Given the description of an element on the screen output the (x, y) to click on. 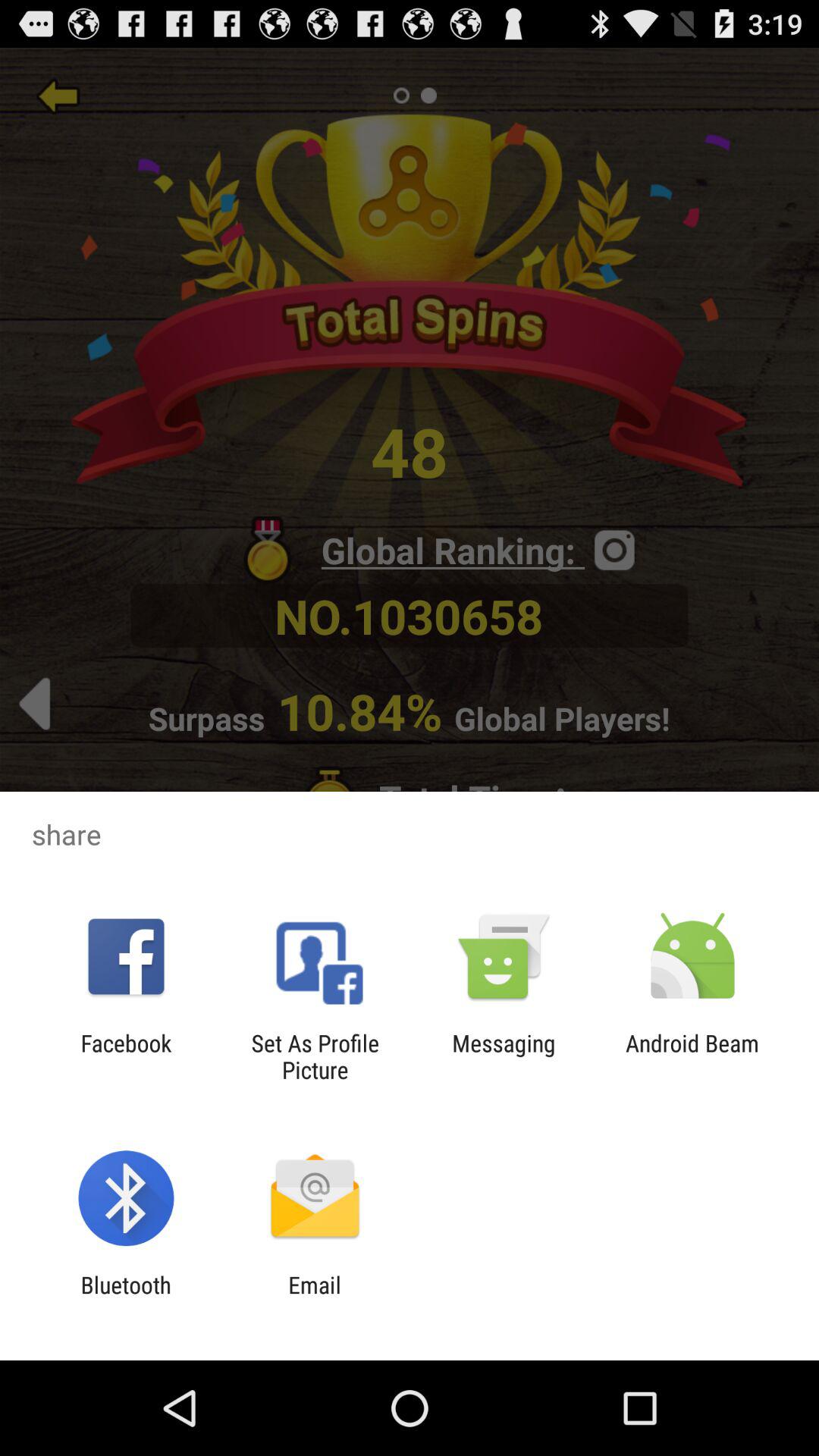
open the app next to the email (125, 1298)
